Given the description of an element on the screen output the (x, y) to click on. 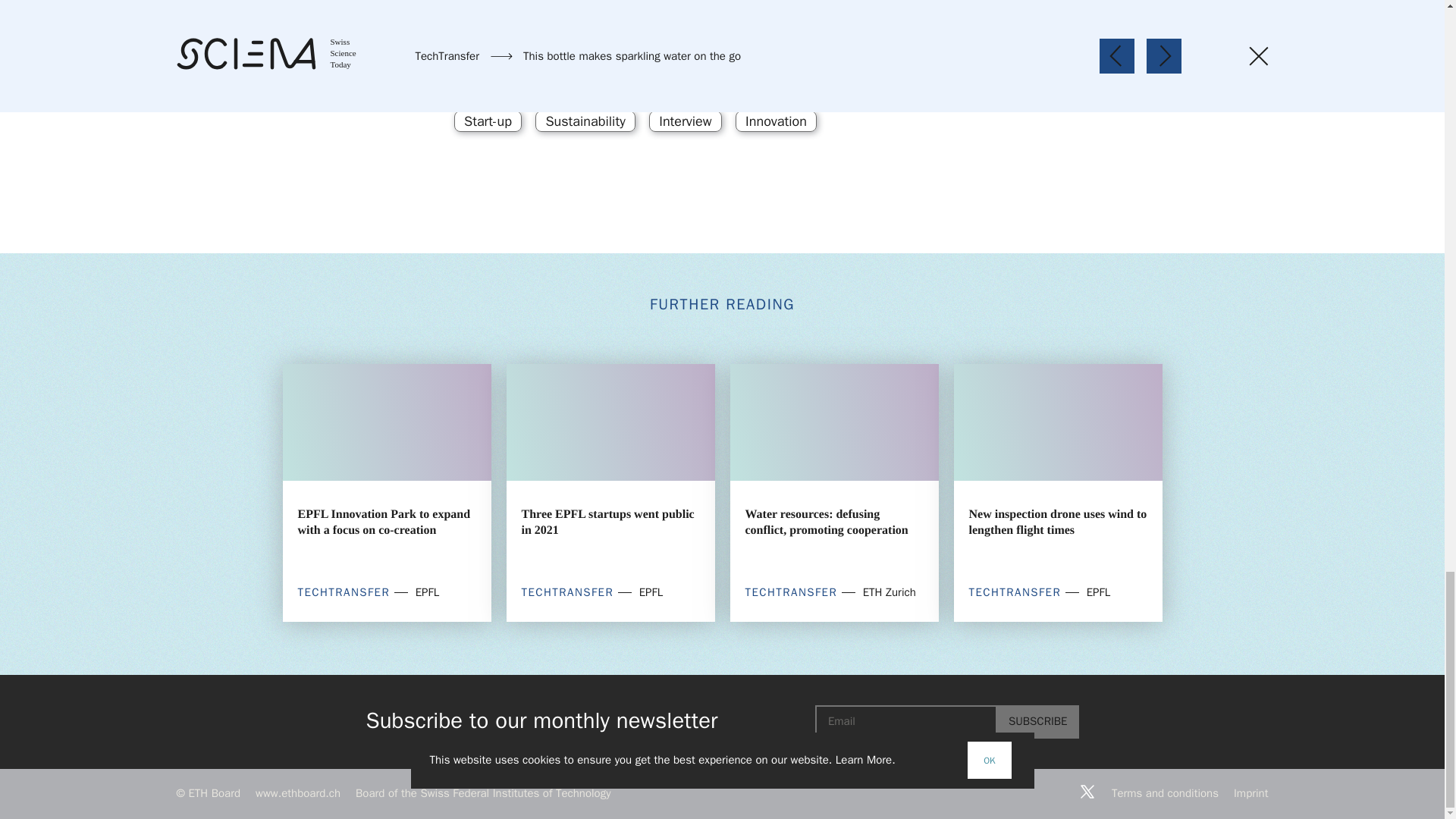
ETH Zurich (497, 71)
Innovation (775, 120)
Interview (684, 120)
Visit Source (947, 72)
Sustainability (584, 120)
Start-up (487, 120)
Imprint (1250, 793)
Show all ETH Zurich articles on Sciena.ch (722, 73)
Terms and conditions (1164, 793)
Subscribe (1037, 721)
